Given the description of an element on the screen output the (x, y) to click on. 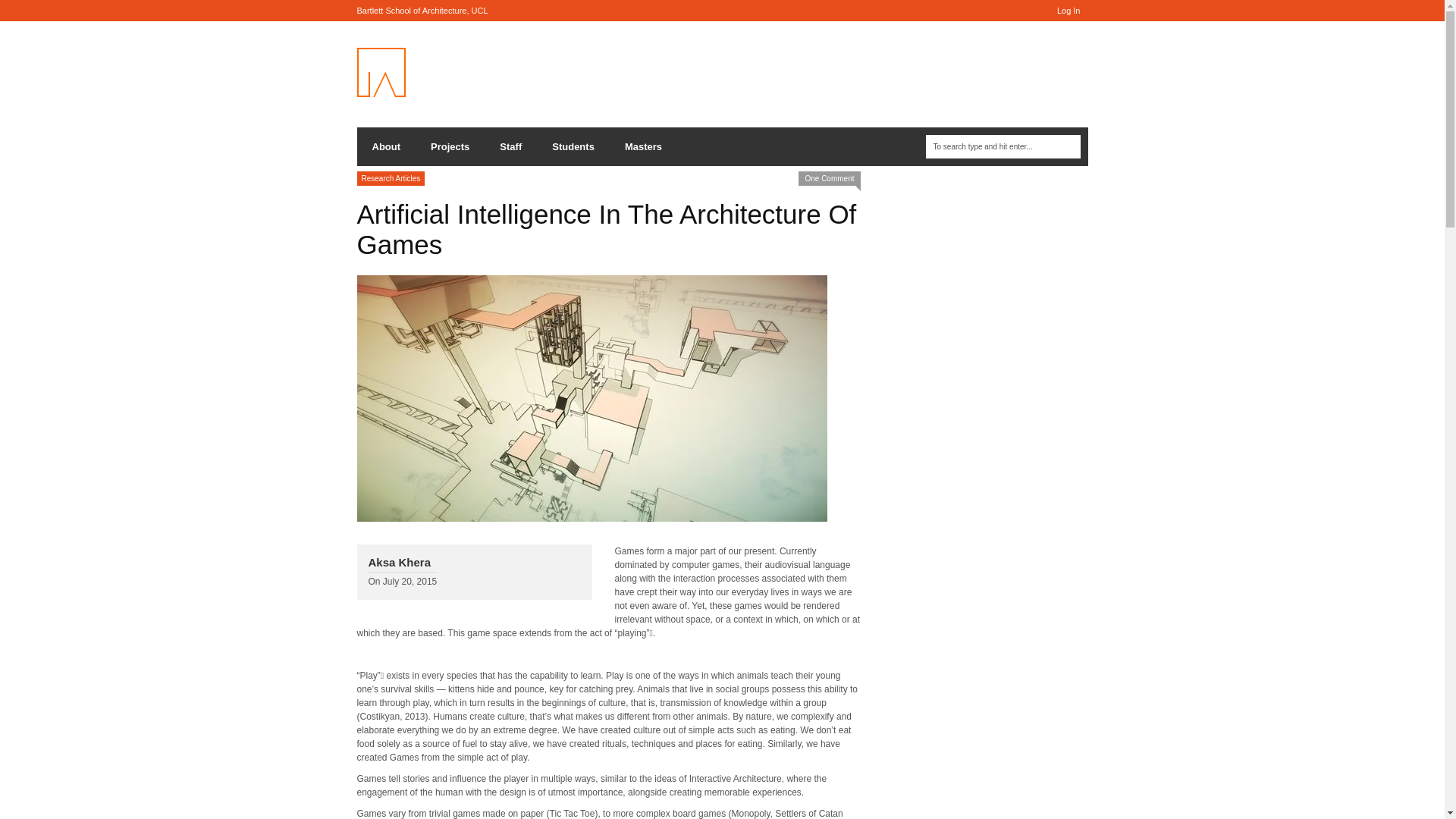
To search type and hit enter... (1002, 146)
Staff (510, 146)
Students (573, 146)
One Comment (828, 178)
Masters (643, 146)
Log In (1068, 10)
Posts by Aksa Khera (399, 562)
Research Articles (390, 178)
About (385, 146)
Aksa Khera (399, 562)
